Given the description of an element on the screen output the (x, y) to click on. 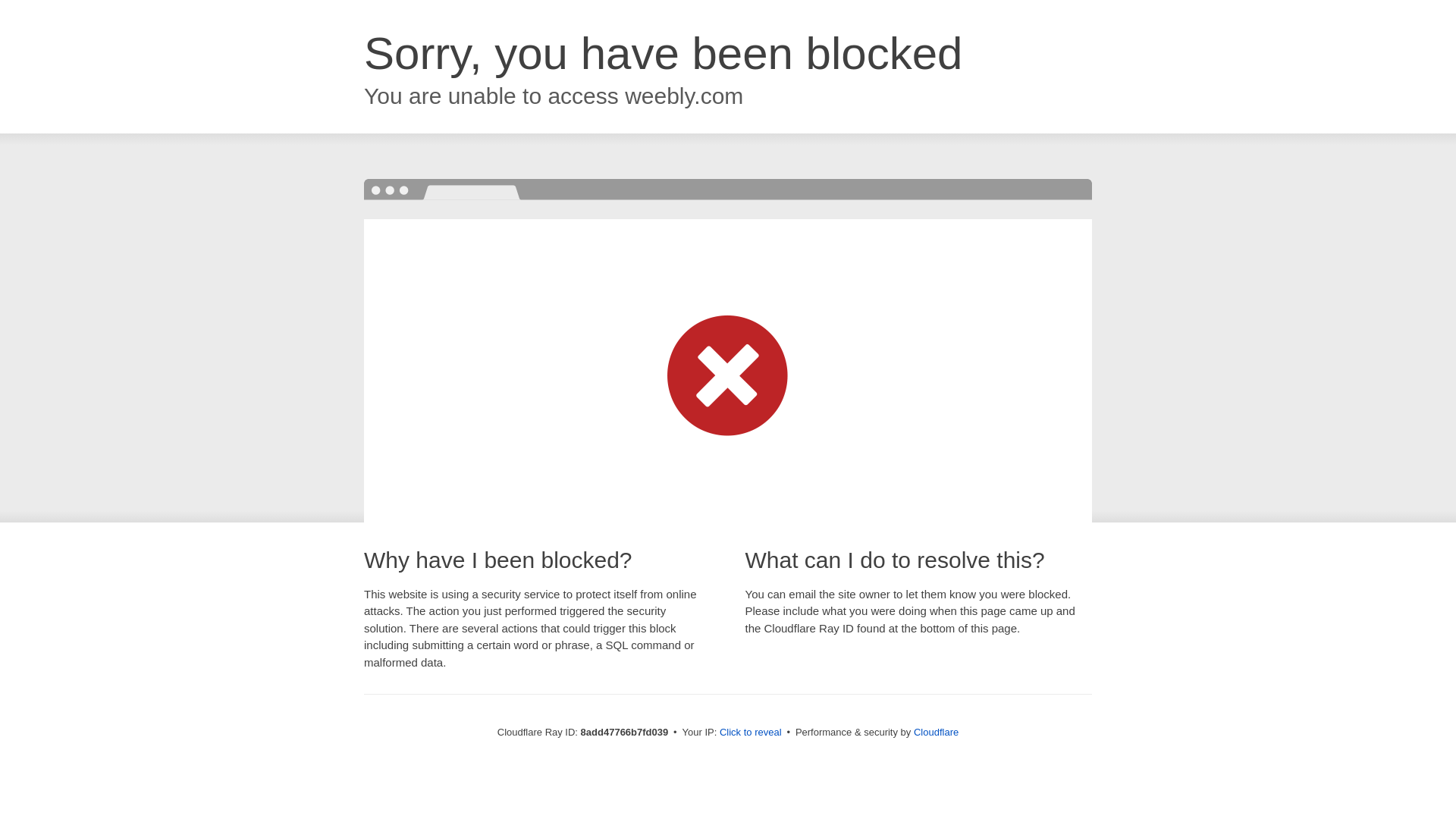
Click to reveal (750, 732)
Cloudflare (936, 731)
